Given the description of an element on the screen output the (x, y) to click on. 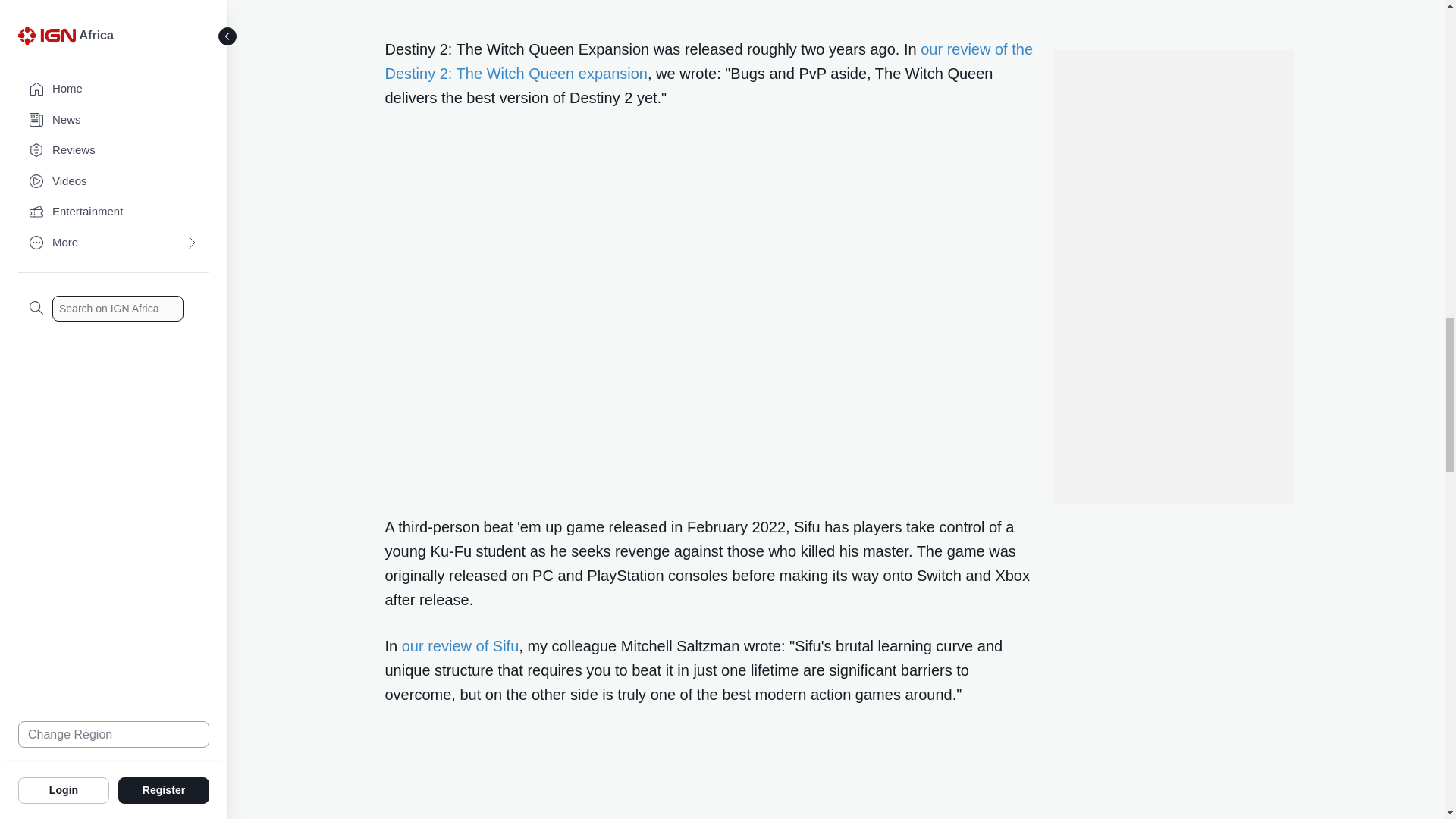
our review of the Destiny 2: The Witch Queen expansion (709, 60)
our review of Sifu (460, 646)
